Given the description of an element on the screen output the (x, y) to click on. 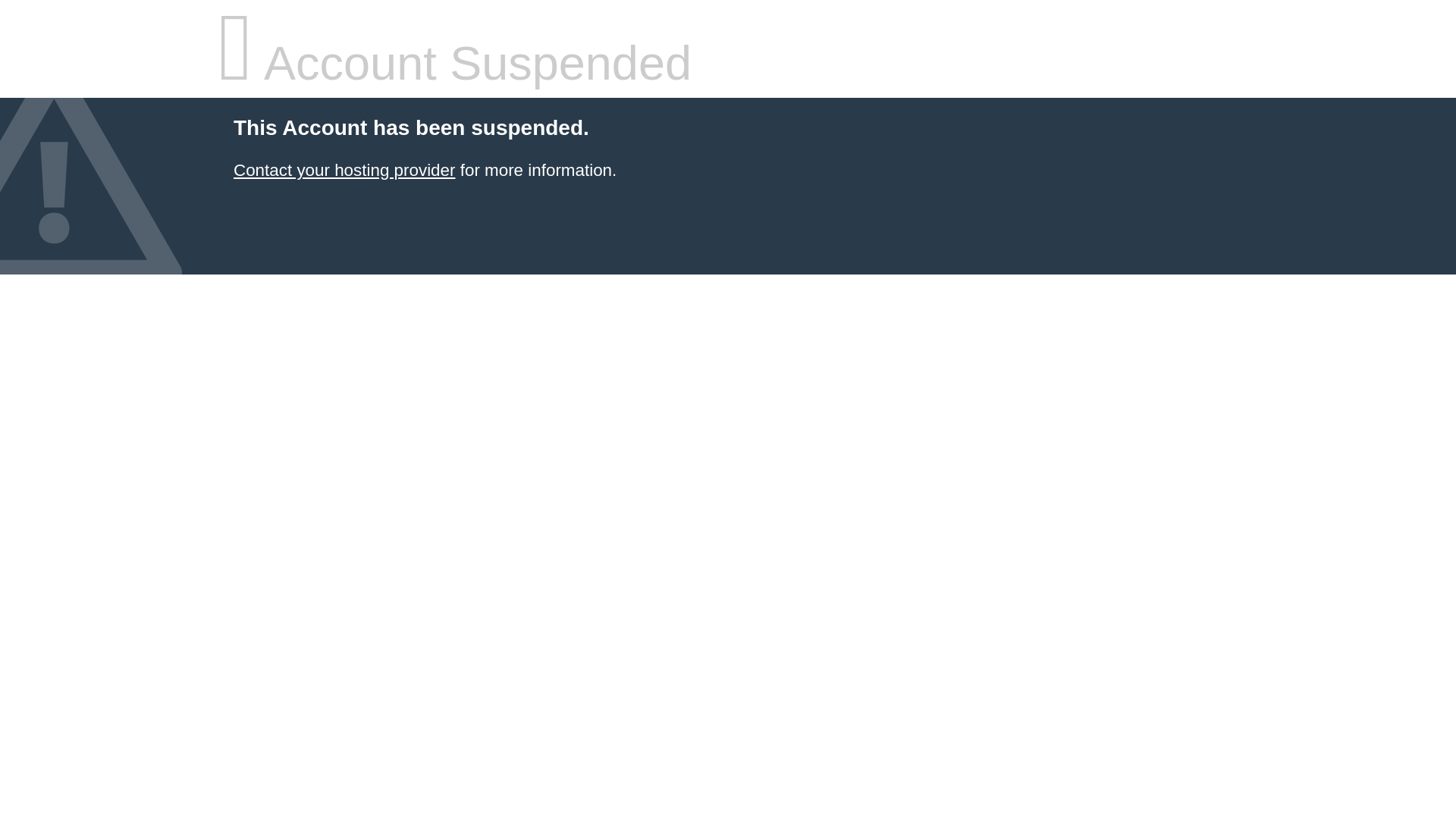
Contact your hosting provider (343, 169)
